Given the description of an element on the screen output the (x, y) to click on. 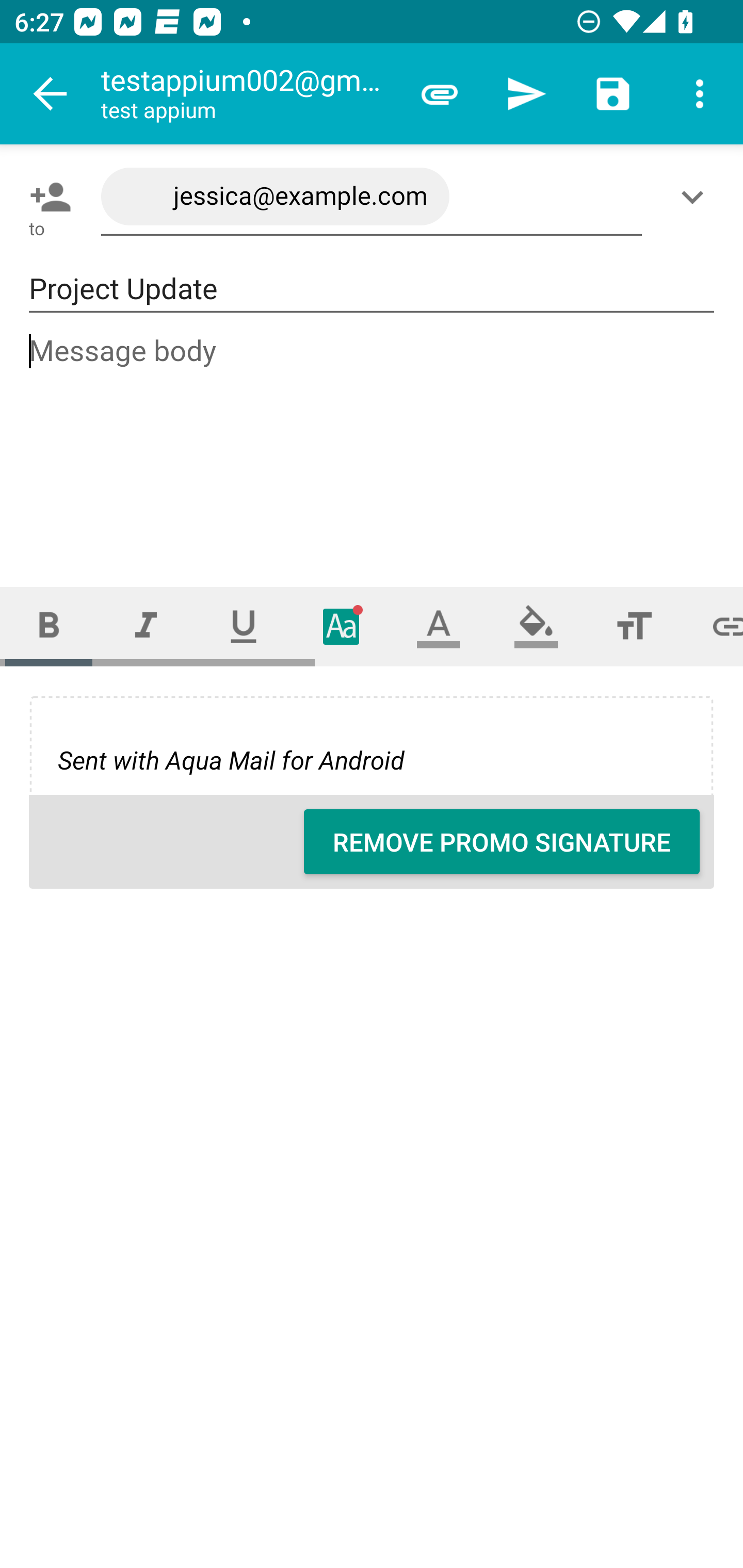
Navigate up (50, 93)
testappium002@gmail.com test appium (248, 93)
Attach (439, 93)
Send (525, 93)
Save (612, 93)
More options (699, 93)
jessica@example.com,  (371, 197)
Pick contact: To (46, 196)
Show/Add CC/BCC (696, 196)
Project Update (371, 288)
Message body (372, 442)
Bold (48, 626)
Italic (145, 626)
Underline (243, 626)
Typeface (font) (341, 626)
Text color (438, 626)
Fill color (536, 626)
Font size (633, 626)
REMOVE PROMO SIGNATURE (501, 841)
